Given the description of an element on the screen output the (x, y) to click on. 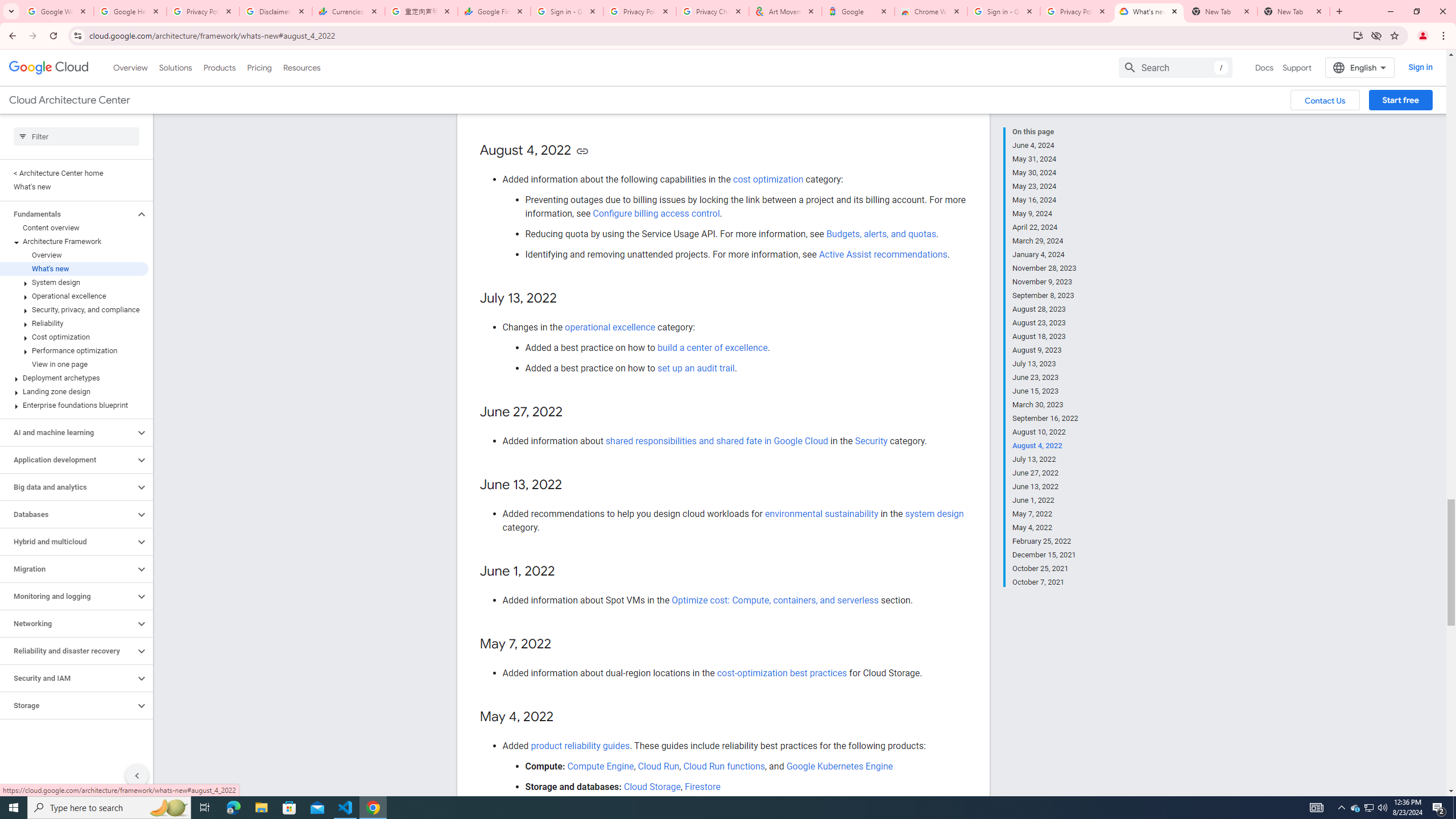
Copy link to this section: June 1, 2022 (566, 572)
Sign in - Google Accounts (1003, 11)
February 25, 2022 (1044, 540)
November 28, 2023 (1044, 268)
system design (933, 513)
Copy link to this section: June 27, 2022 (573, 412)
